Given the description of an element on the screen output the (x, y) to click on. 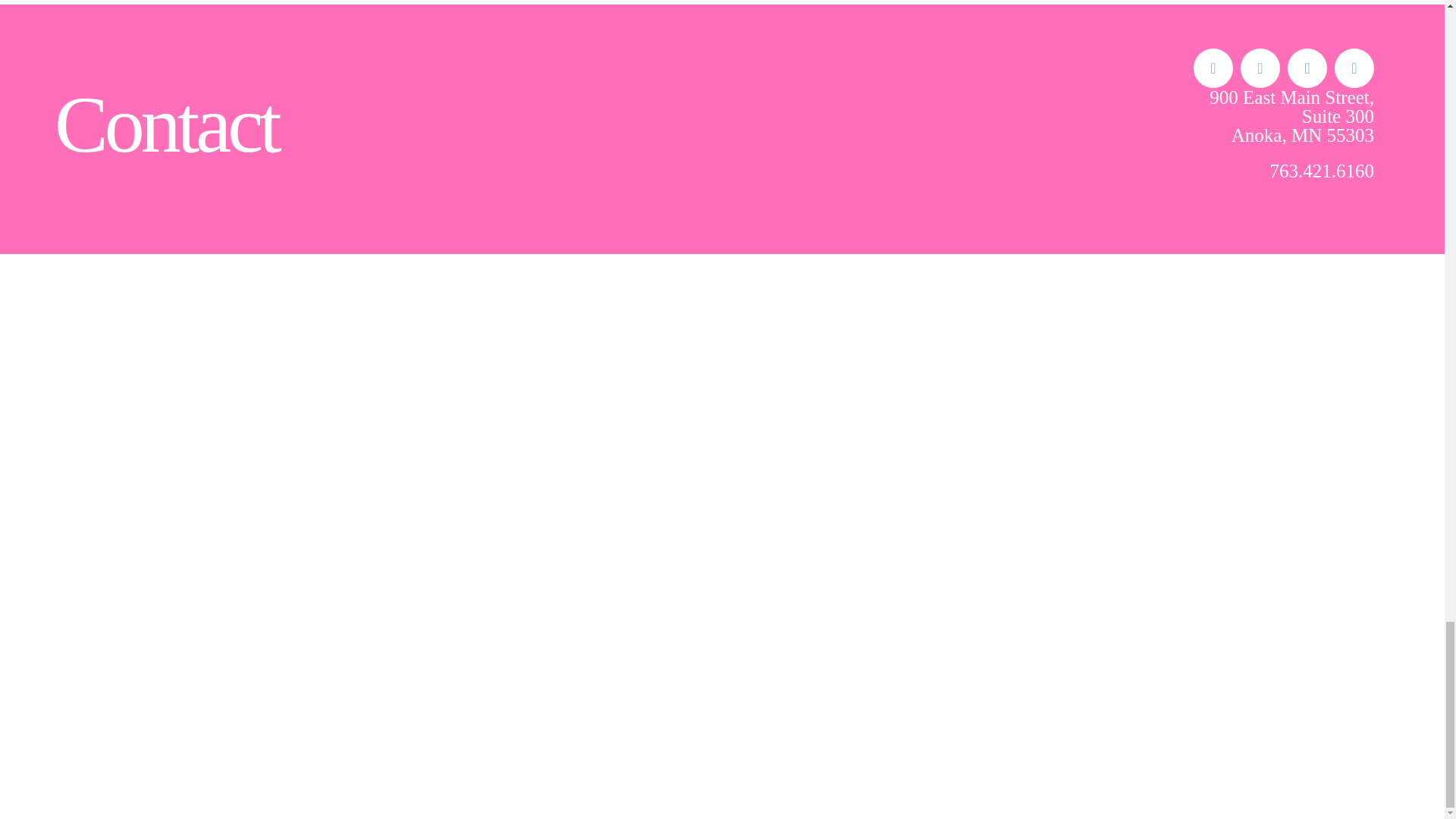
Email (1354, 67)
X (1259, 67)
Facebook (1213, 67)
Instagram (1306, 67)
